Given the description of an element on the screen output the (x, y) to click on. 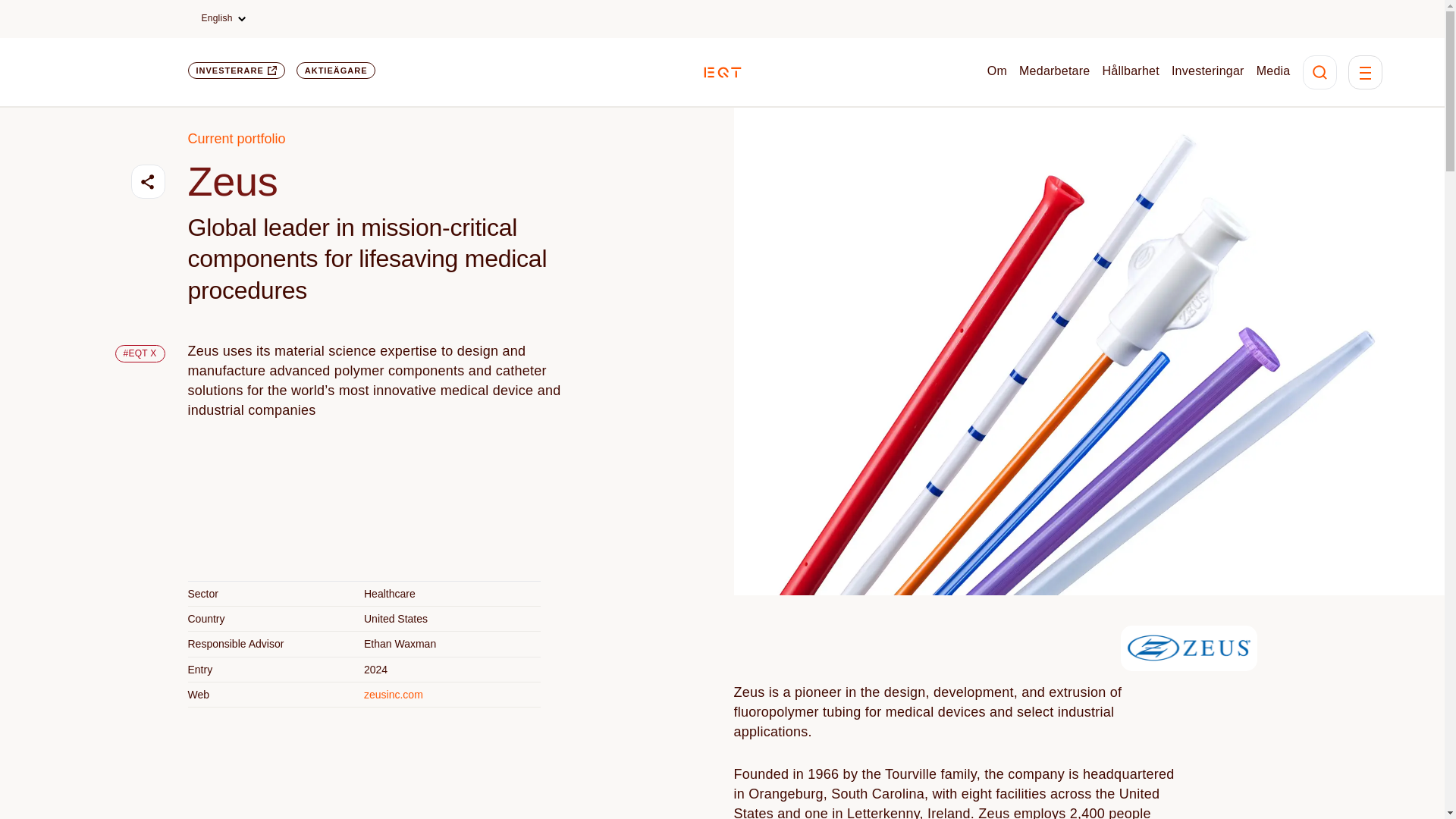
English (223, 18)
Medarbetare (1054, 71)
Om (997, 71)
Om (997, 71)
zeusinc.com (393, 694)
INVESTERARE (236, 70)
Investeringar (1208, 71)
Media (1273, 71)
Media (1273, 71)
Investeringar (1208, 71)
